Given the description of an element on the screen output the (x, y) to click on. 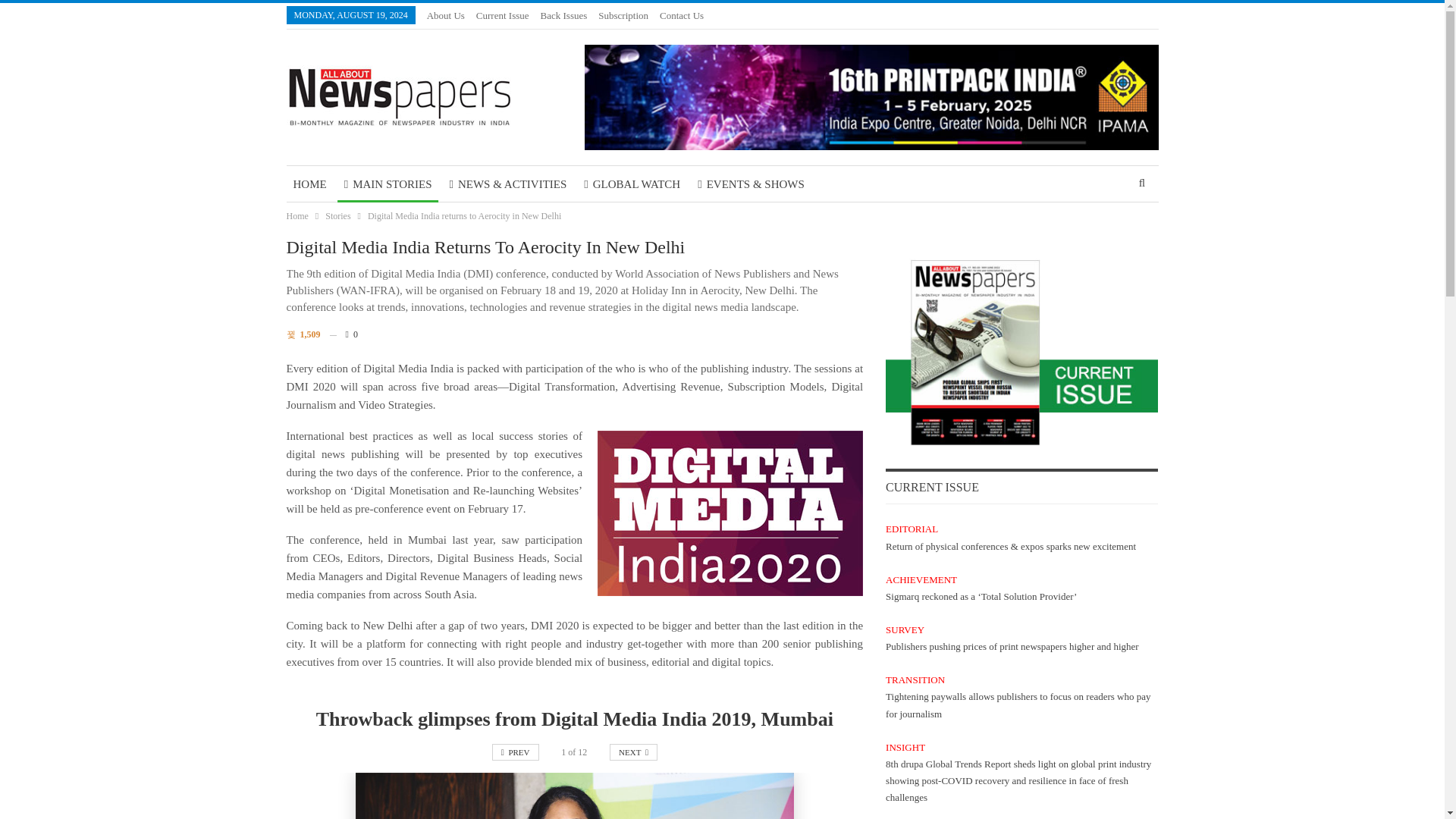
HOME (309, 184)
MAIN STORIES (388, 184)
0 (342, 333)
Subscription (622, 15)
Contact Us (681, 15)
Back Issues (564, 15)
Home (297, 216)
GLOBAL WATCH (631, 184)
About Us (445, 15)
Stories (337, 216)
